Given the description of an element on the screen output the (x, y) to click on. 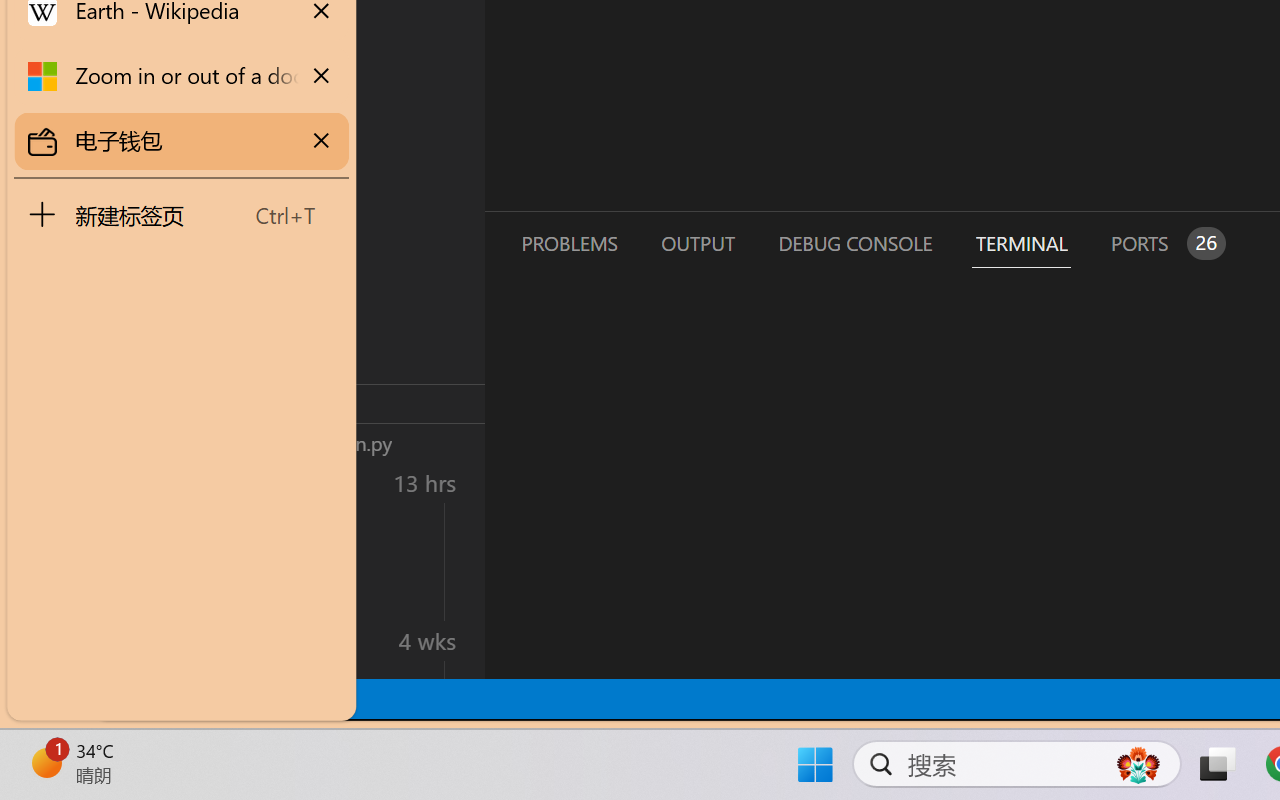
Accounts - Sign in requested (135, 548)
Debug Console (Ctrl+Shift+Y) (854, 243)
No Problems (212, 698)
Output (Ctrl+Shift+U) (696, 243)
Problems (Ctrl+Shift+M) (567, 243)
